Given the description of an element on the screen output the (x, y) to click on. 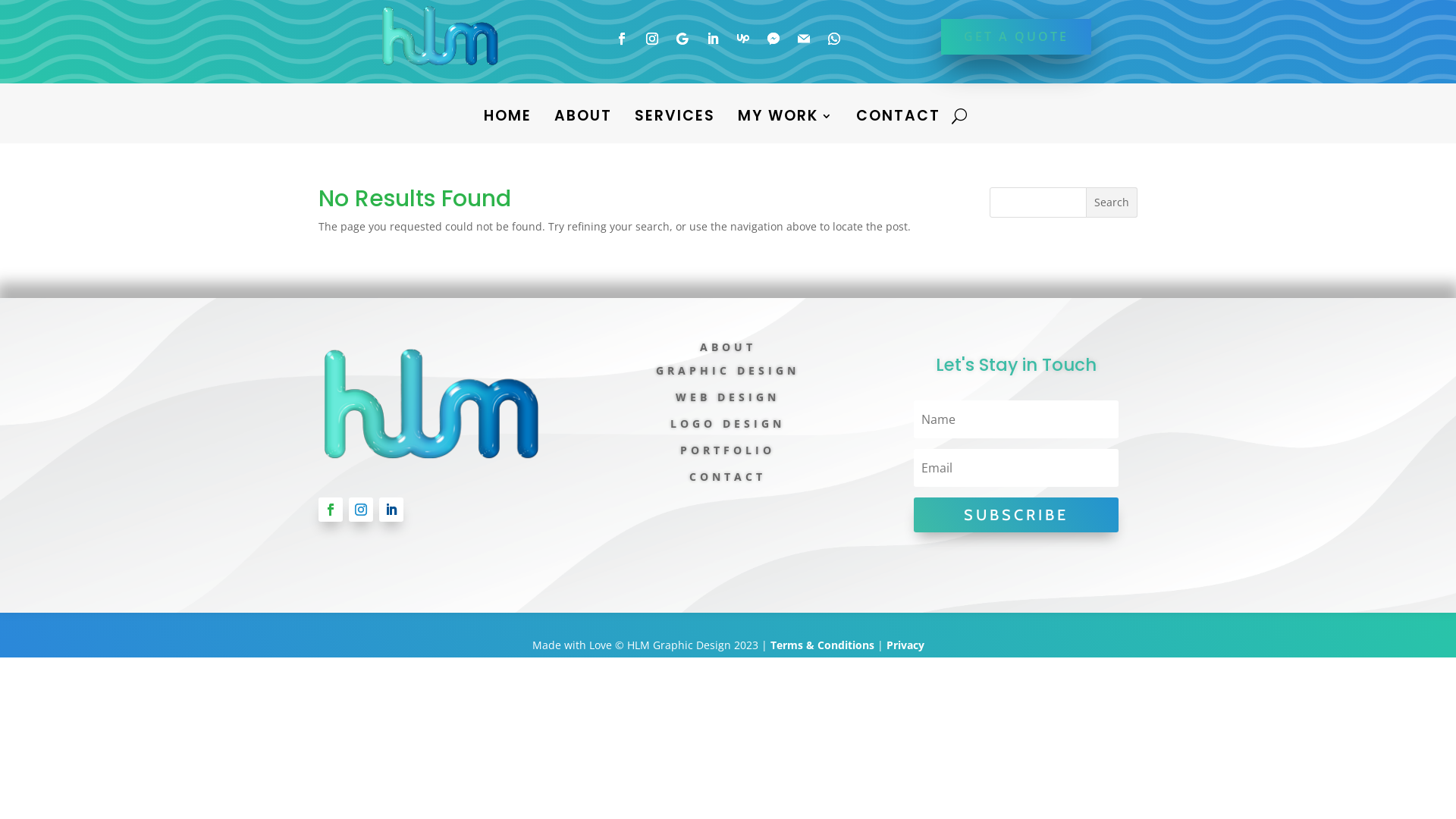
Follow on Upwork Element type: hover (743, 38)
Follow on LinkedIn Element type: hover (391, 509)
HOME Element type: text (507, 119)
Follow on Google Element type: hover (682, 38)
Follow on Facebook Element type: hover (330, 509)
CONTACT Element type: text (898, 119)
ABOUT Element type: text (582, 119)
Terms & Conditions Element type: text (822, 644)
SUBSCRIBE Element type: text (1015, 514)
MY WORK Element type: text (785, 119)
Follow on LinkedIn Element type: hover (712, 38)
SERVICES Element type: text (674, 119)
Follow on Facebook Element type: hover (621, 38)
Follow on Instagram Element type: hover (360, 509)
hlm-plastic-bubble2 Element type: hover (430, 402)
GET A QUOTE Element type: text (1016, 36)
Search Element type: text (1111, 202)
Follow on Mail Element type: hover (803, 38)
Privacy Element type: text (904, 644)
Follow on WhatsApp Element type: hover (834, 38)
hlm-plastic-bubble2 Element type: hover (439, 34)
Follow on Facebook Messenger Element type: hover (773, 38)
Follow on Instagram Element type: hover (652, 38)
